Given the description of an element on the screen output the (x, y) to click on. 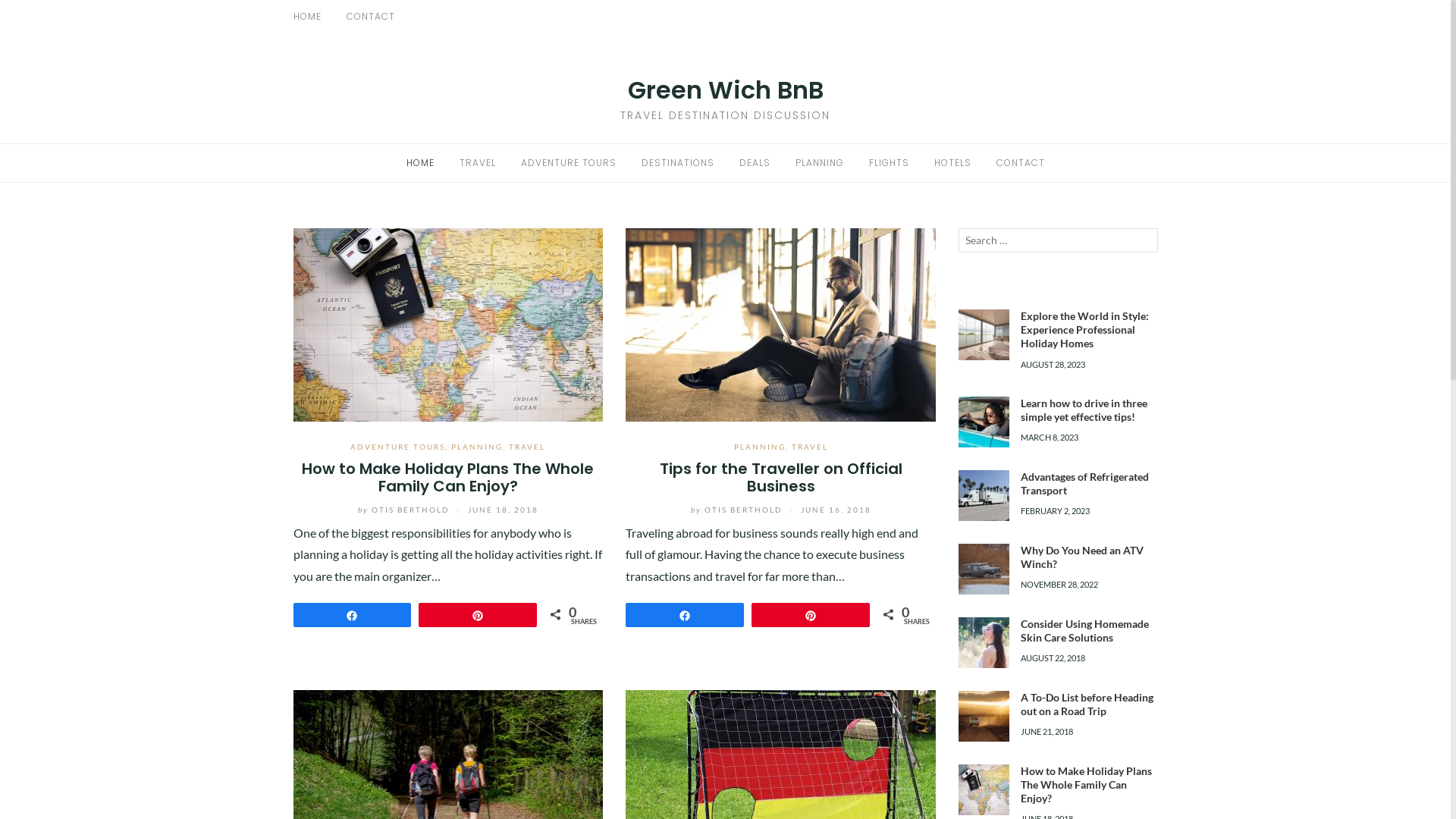
Why Do You Need an ATV Winch? Element type: hover (983, 568)
FLIGHTS Element type: text (35, 260)
Green Wich BnB Element type: text (725, 89)
ADVENTURE TOURS Element type: text (62, 109)
Consider Using Homemade Skin Care Solutions Element type: hover (983, 642)
How to Make Holiday Plans The Whole Family Can Enjoy? Element type: hover (983, 789)
CONTACT Element type: text (39, 336)
PLANNING Element type: text (759, 446)
How to Pack For a Fun Weekend Out? Element type: hover (780, 784)
HOTELS Element type: text (33, 298)
HOME Element type: text (420, 162)
Planning an Enjoyable Family Hike Element type: hover (447, 784)
CONTACT Element type: text (369, 15)
PLANNING Element type: text (818, 162)
FLIGHTS Element type: text (889, 162)
by OTIS BERTHOLD Element type: text (737, 509)
How to Make Holiday Plans The Whole Family Can Enjoy? Element type: hover (447, 322)
HOME Element type: text (29, 33)
PLANNING Element type: text (39, 222)
ADVENTURE TOURS Element type: text (397, 446)
by OTIS BERTHOLD Element type: text (404, 509)
Tips for the Traveller on Official Business Element type: text (780, 477)
How to Make Holiday Plans The Whole Family Can Enjoy? Element type: text (1085, 784)
How to Make Holiday Plans The Whole Family Can Enjoy? Element type: text (447, 477)
DESTINATIONS Element type: text (51, 147)
TRAVEL Element type: text (526, 446)
A To-Do List before Heading out on a Road Trip Element type: hover (983, 715)
ADVENTURE TOURS Element type: text (567, 162)
DEALS Element type: text (753, 162)
TRAVEL Element type: text (477, 162)
Consider Using Homemade Skin Care Solutions Element type: text (1084, 630)
A To-Do List before Heading out on a Road Trip Element type: text (1086, 703)
TRAVEL Element type: text (33, 71)
Advantages of Refrigerated Transport Element type: text (1084, 483)
Learn how to drive in three simple yet effective tips! Element type: text (1083, 409)
HOTELS Element type: text (952, 162)
Learn how to drive in three simple yet effective tips! Element type: hover (983, 421)
HOME Element type: text (306, 15)
PLANNING Element type: text (476, 446)
DESTINATIONS Element type: text (677, 162)
Skip to content Element type: text (0, 0)
TRAVEL Element type: text (809, 446)
Why Do You Need an ATV Winch? Element type: text (1081, 556)
DEALS Element type: text (30, 184)
Advantages of Refrigerated Transport Element type: hover (983, 495)
Tips for the Traveller on Official Business Element type: hover (780, 322)
CONTACT Element type: text (1020, 162)
